Given the description of an element on the screen output the (x, y) to click on. 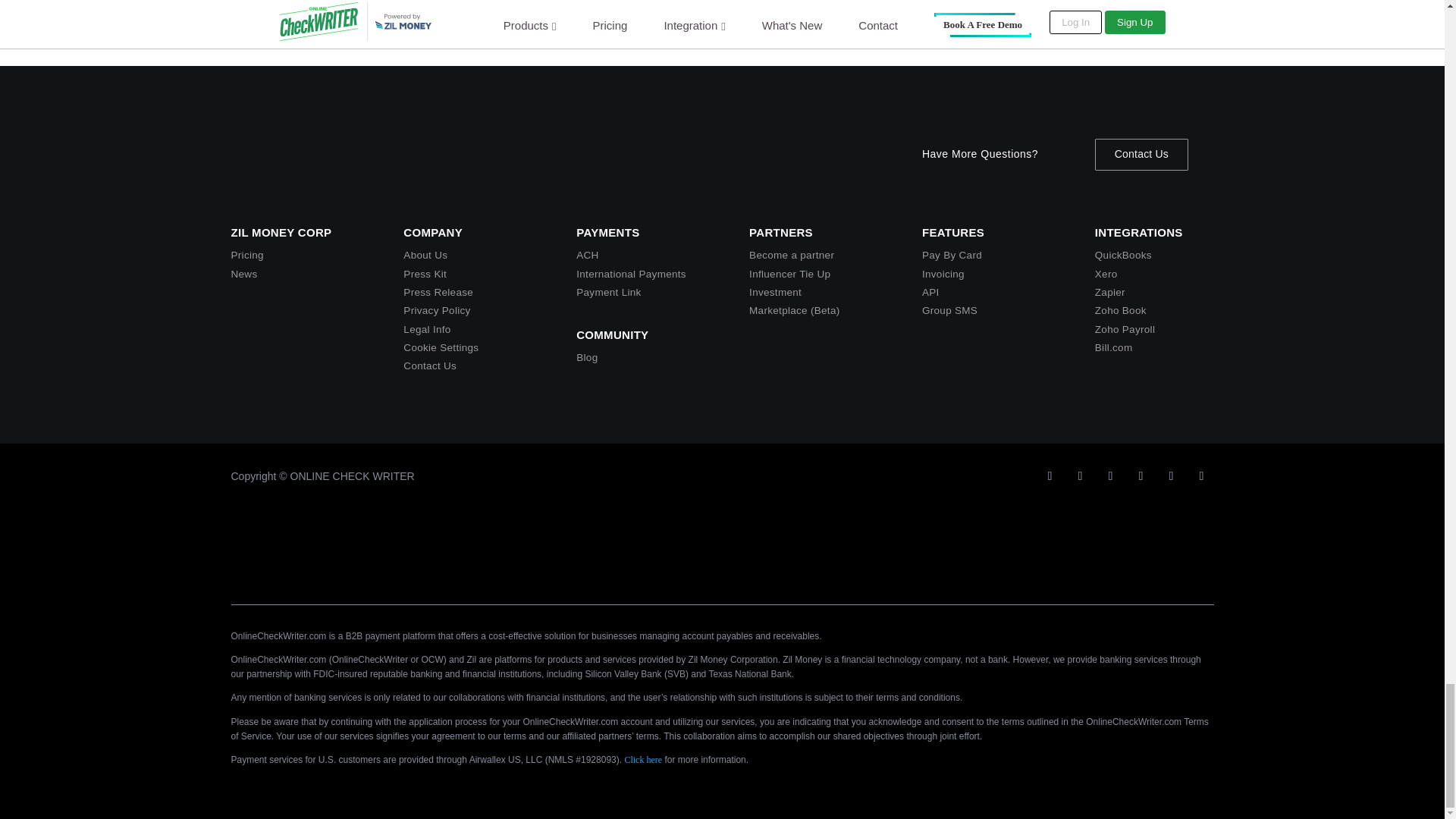
Follow on LinkedIn (1109, 476)
Follow on X (1048, 476)
Follow on Instagram (1140, 476)
Follow on Facebook (1170, 476)
Follow on Pinterest (1200, 476)
Follow on Youtube (1079, 476)
